Given the description of an element on the screen output the (x, y) to click on. 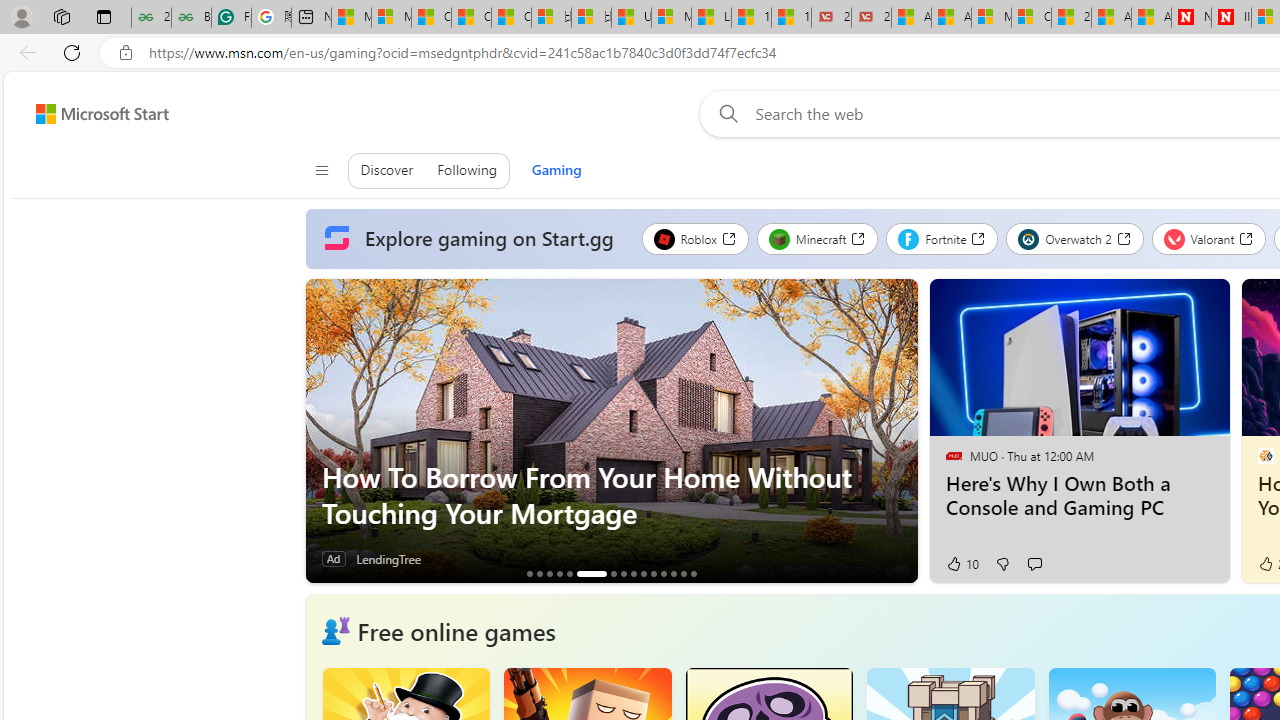
Roblox (694, 238)
20 Ways to Boost Your Protein Intake at Every Meal (1071, 17)
Hide this story (1169, 302)
Gaming (555, 170)
Free AI Writing Assistance for Students | Grammarly (231, 17)
Cloud Computing Services | Microsoft Azure (1031, 17)
LendingTree (388, 558)
Explore gaming on Start.gg (473, 239)
Free online games (456, 630)
